Given the description of an element on the screen output the (x, y) to click on. 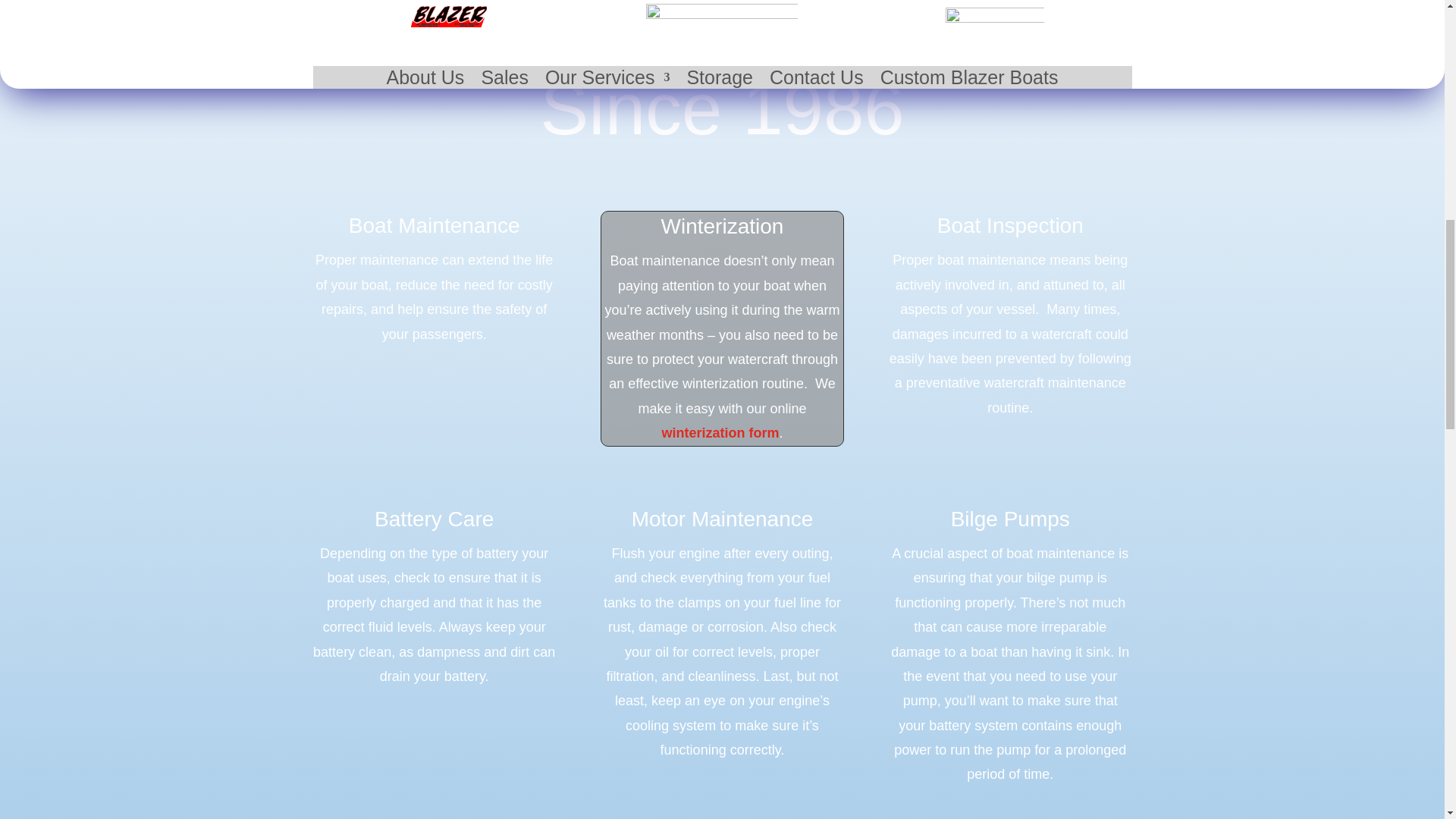
winterization form (719, 432)
